Given the description of an element on the screen output the (x, y) to click on. 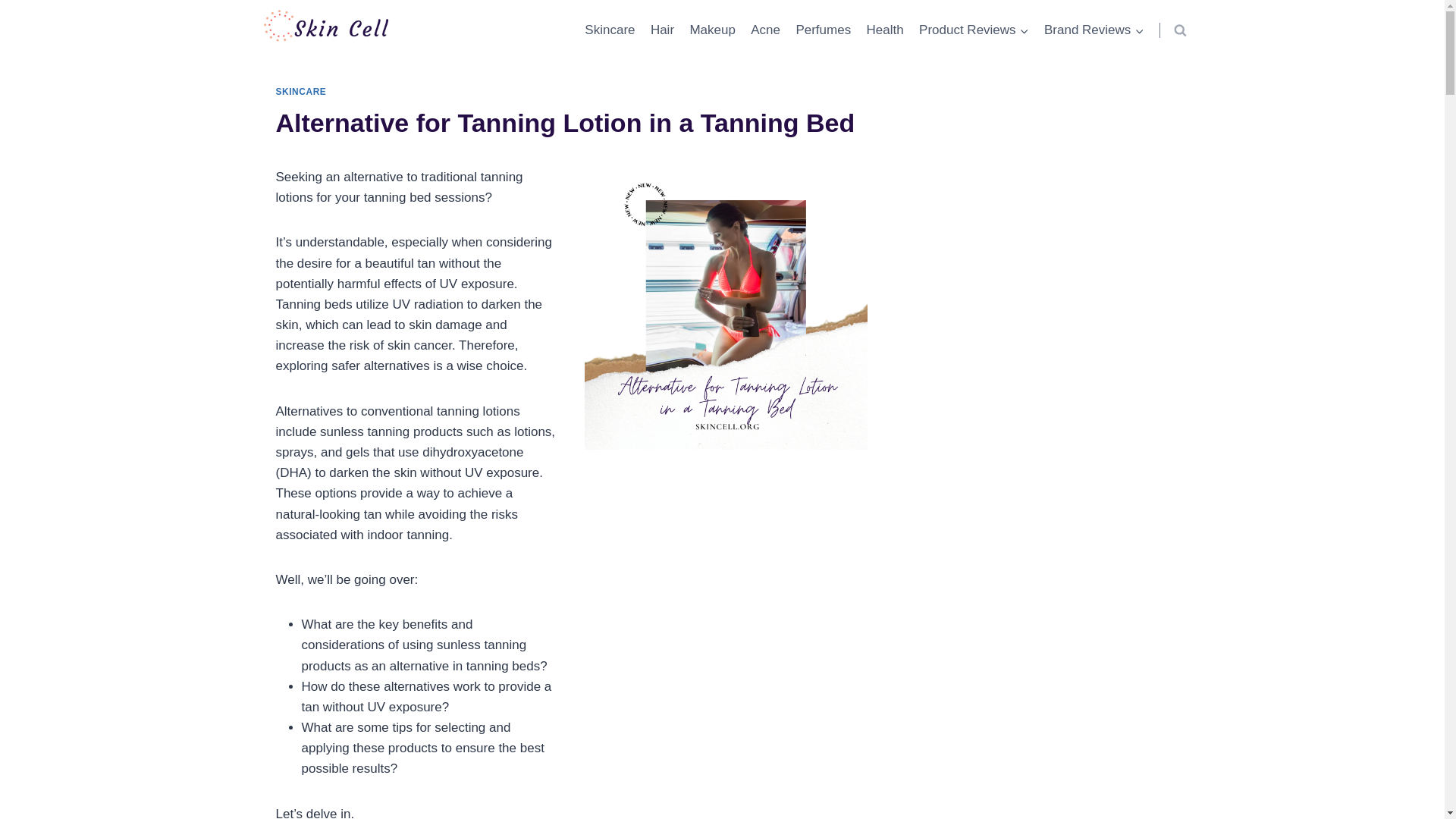
Brand Reviews (1093, 30)
Product Reviews (973, 30)
Acne (764, 30)
Skincare (609, 30)
Perfumes (823, 30)
Health (885, 30)
Hair (662, 30)
SKINCARE (301, 91)
Makeup (711, 30)
